Given the description of an element on the screen output the (x, y) to click on. 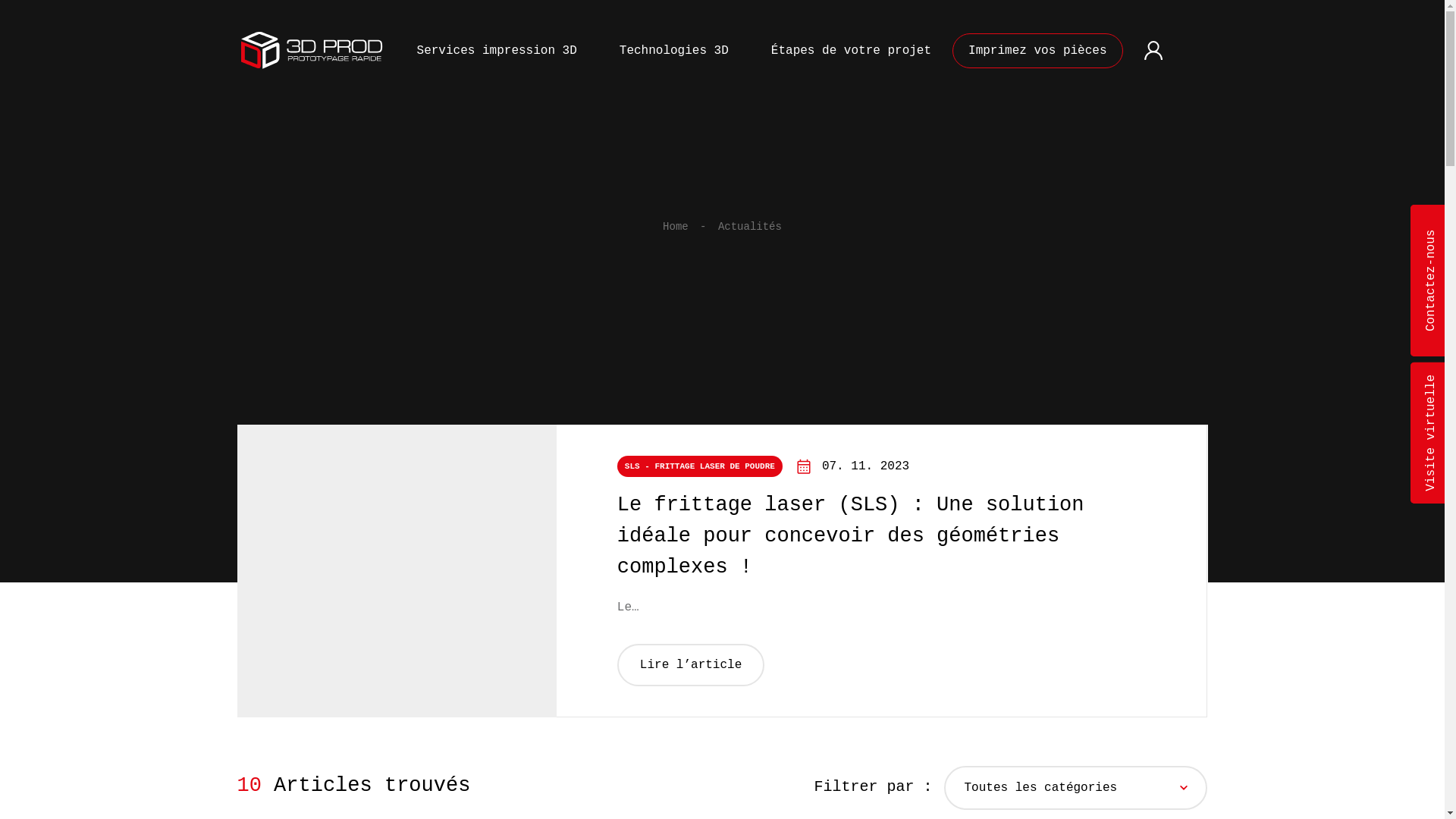
3D Prod Element type: hover (311, 50)
Mon compte Element type: text (1152, 50)
Visite virtuelle Element type: text (1429, 432)
Technologies 3D Element type: text (673, 50)
Home Element type: text (675, 226)
Services impression 3D Element type: text (497, 50)
